Given the description of an element on the screen output the (x, y) to click on. 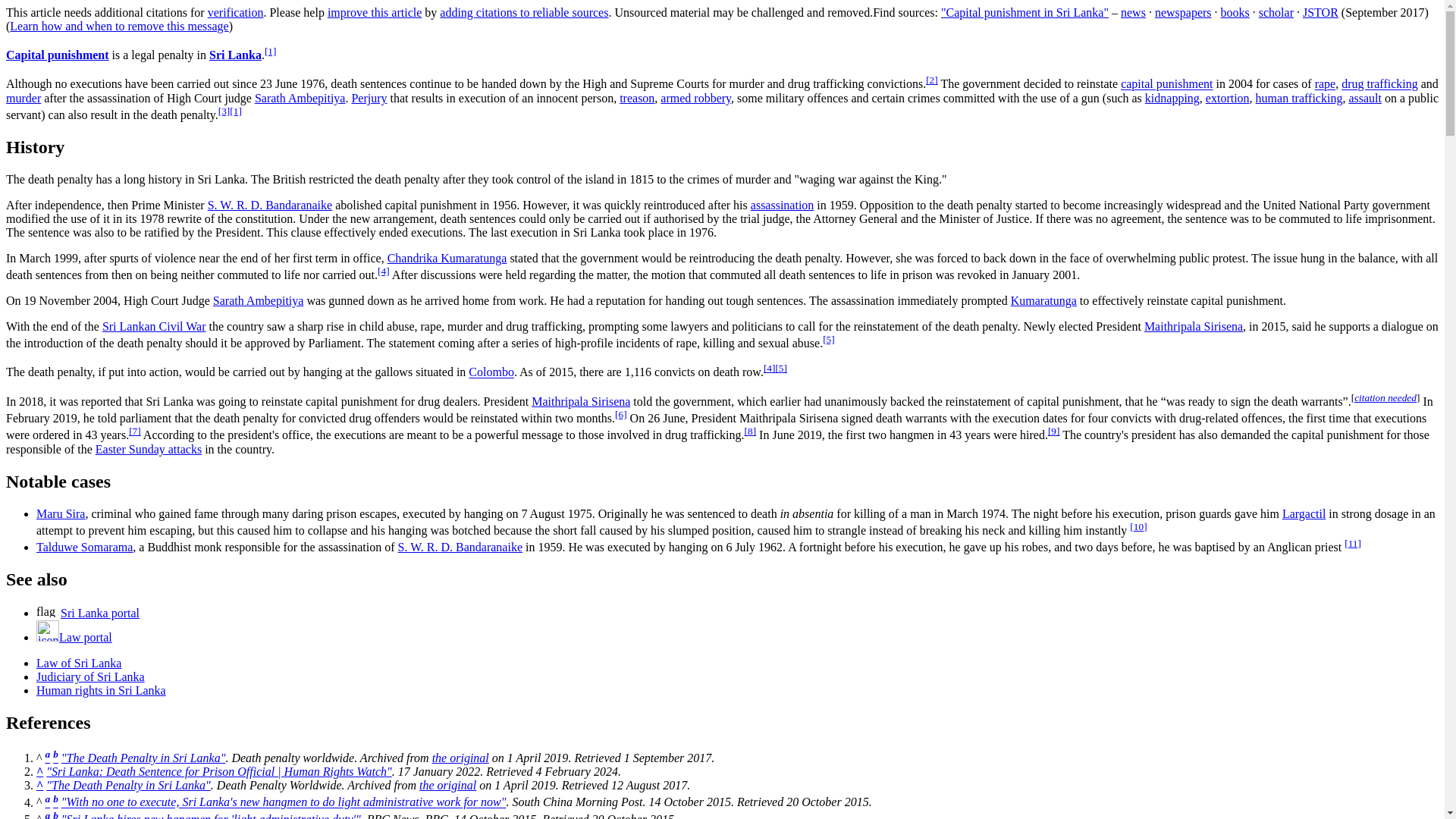
assault (1364, 97)
Kumaratunga (1043, 300)
Perjury (368, 97)
kidnapping (1171, 97)
rape (1325, 83)
Capital punishment (57, 54)
scholar (1276, 11)
JSTOR (1320, 11)
Sarath Ambepitiya (258, 300)
Sarath Ambepitiya (300, 97)
